Given the description of an element on the screen output the (x, y) to click on. 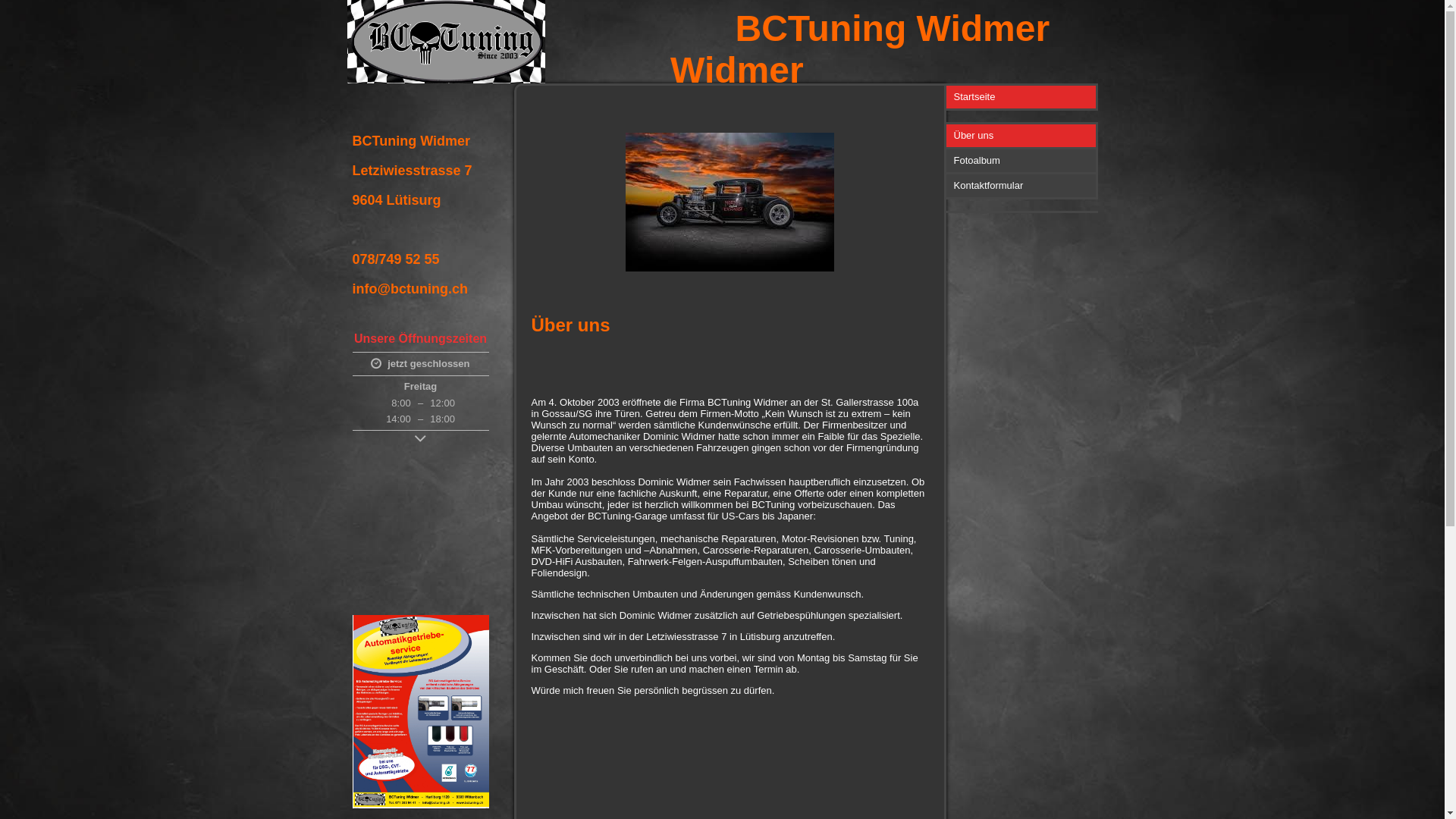
Kontaktformular Element type: text (1022, 184)
Startseite Element type: text (1022, 96)
Fotoalbum Element type: text (1022, 159)
info@bctuning.ch Element type: hover (419, 711)
